Given the description of an element on the screen output the (x, y) to click on. 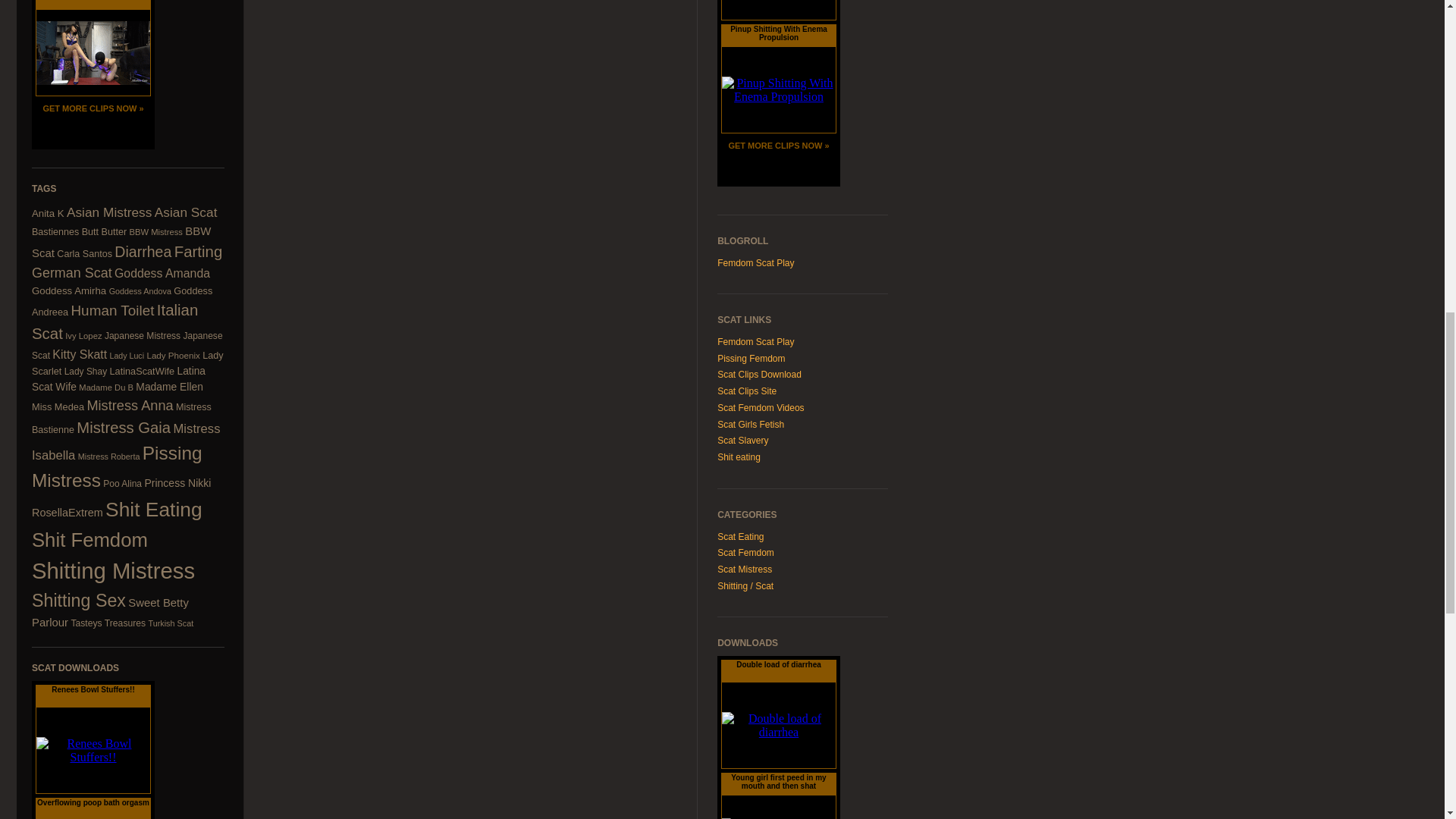
Italian Scat (115, 321)
Mistress Gaia (123, 427)
Madame Du B (105, 387)
Anita K (48, 213)
Carla Santos (84, 253)
Lady Phoenix (173, 355)
Asian Mistress (108, 212)
Kitty Skatt (79, 354)
Japanese Scat (127, 345)
BBW Scat (121, 241)
